Given the description of an element on the screen output the (x, y) to click on. 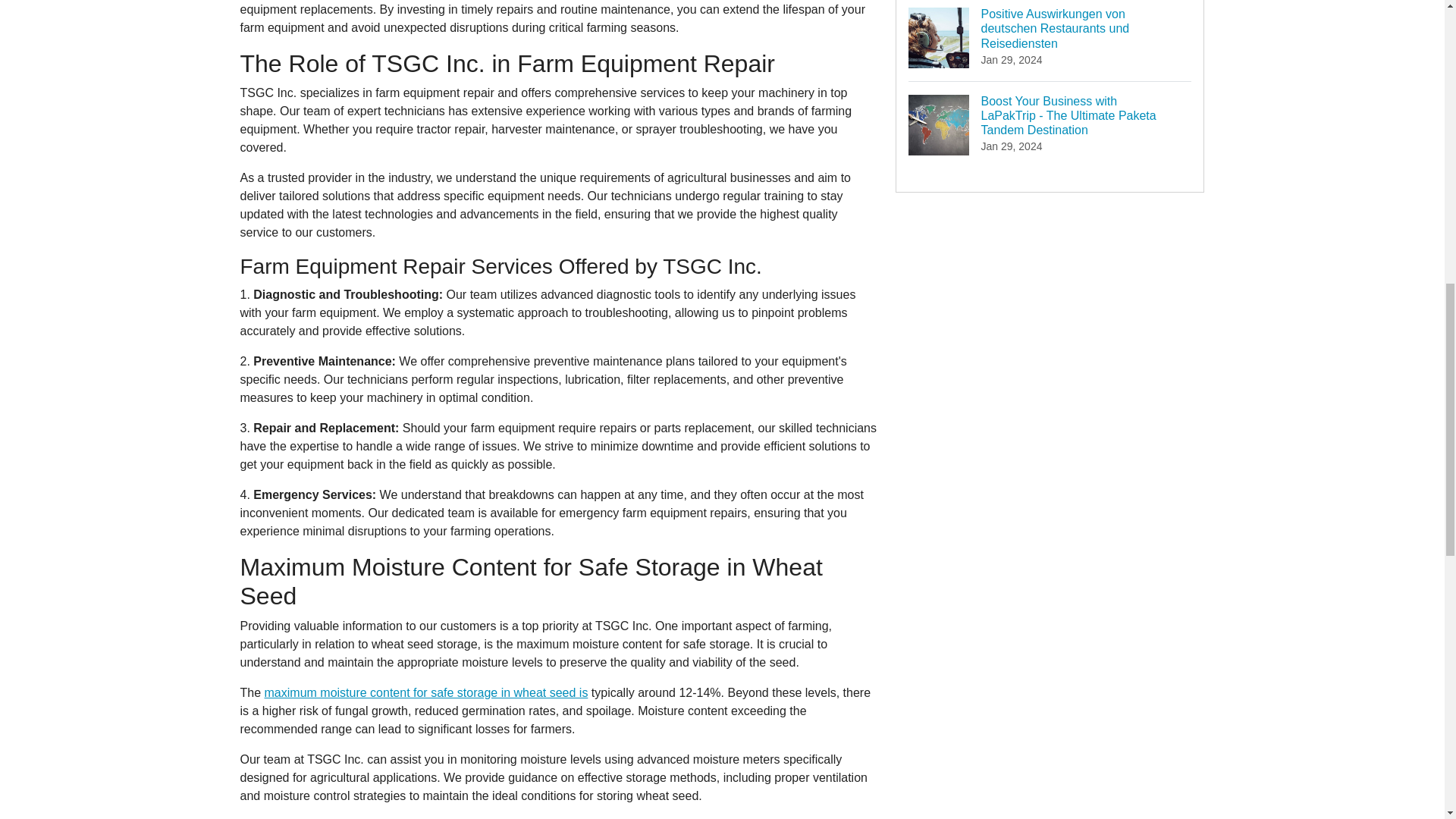
maximum moisture content for safe storage in wheat seed is (426, 692)
